Given the description of an element on the screen output the (x, y) to click on. 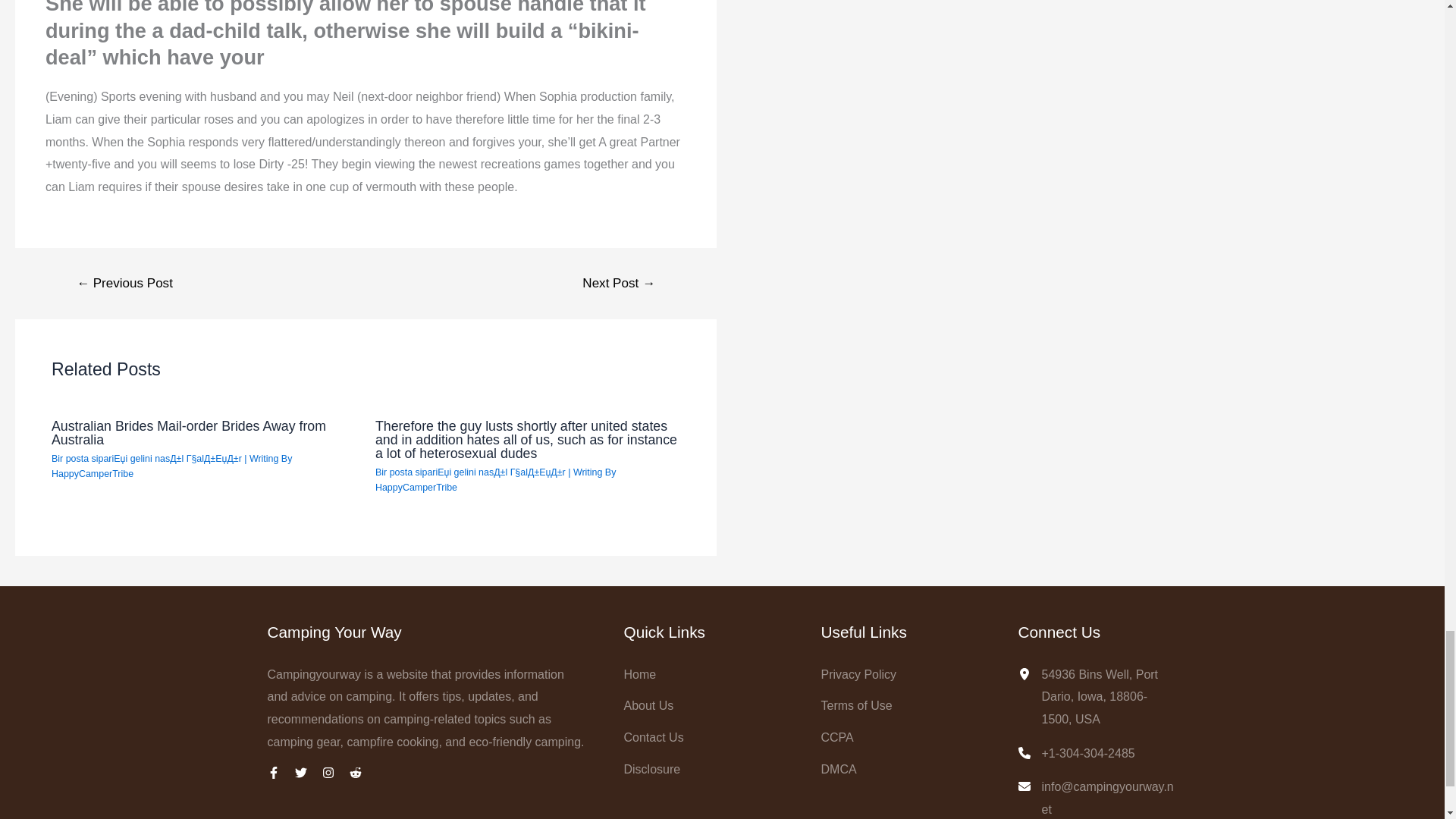
View all posts by HappyCamperTribe (91, 473)
View all posts by HappyCamperTribe (416, 487)
